Given the description of an element on the screen output the (x, y) to click on. 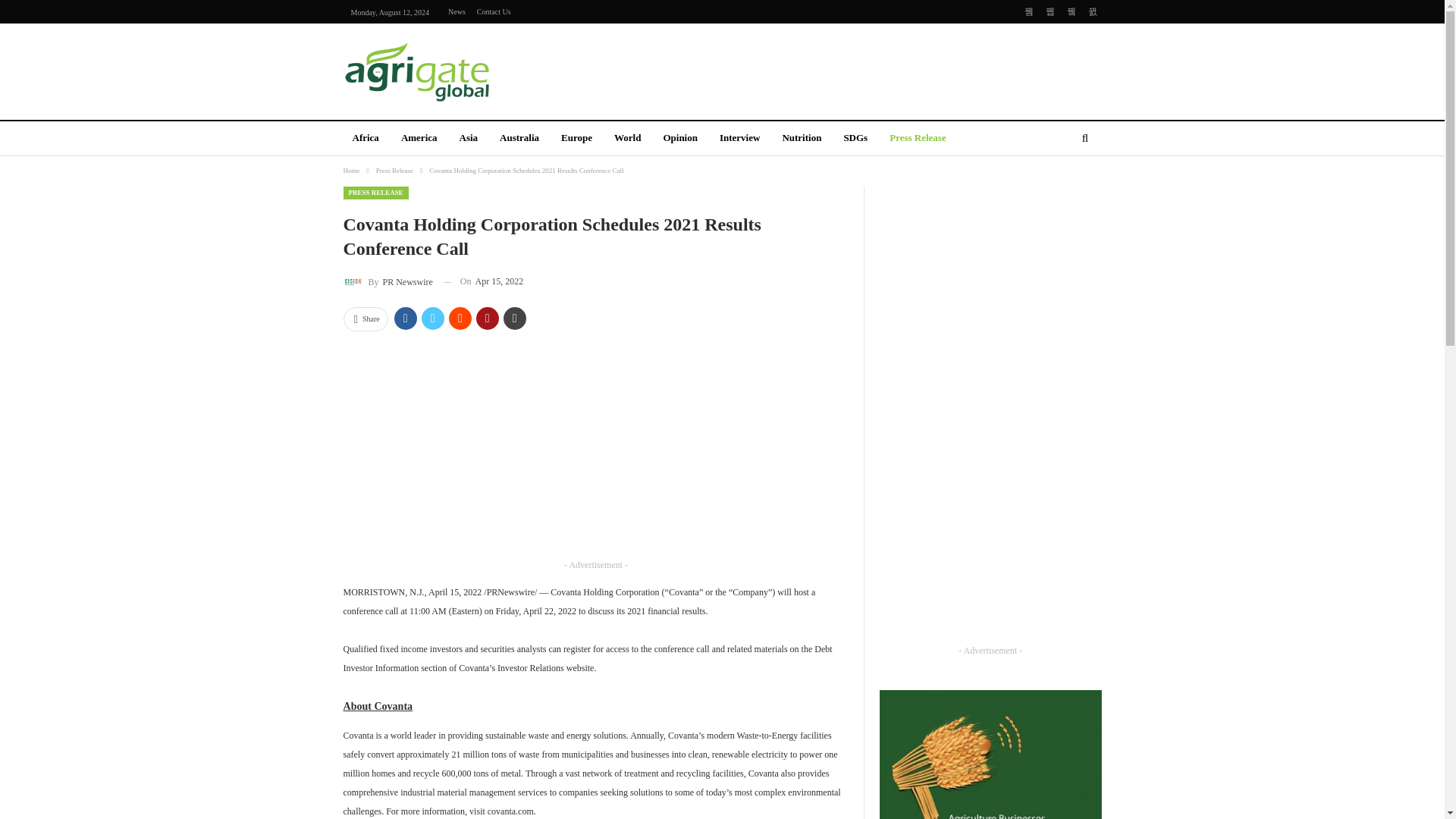
SDGs (855, 139)
Press Release (917, 139)
America (418, 139)
Browse Author Articles (387, 281)
Opinion (679, 139)
Contact Us (494, 11)
Press Release (394, 170)
Asia (468, 139)
Advertisement (881, 69)
Europe (576, 139)
